Given the description of an element on the screen output the (x, y) to click on. 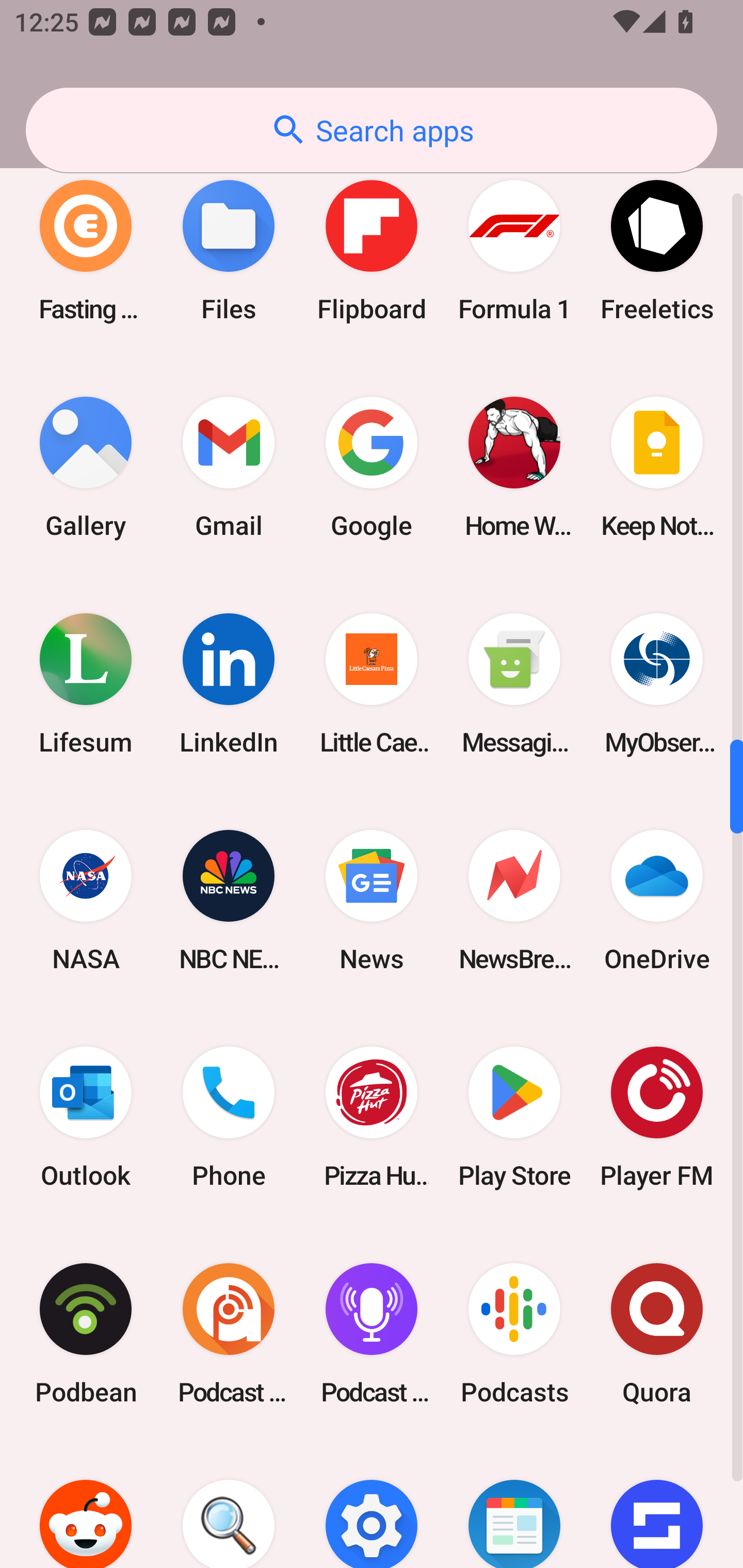
  Search apps (371, 130)
Fasting Coach (85, 250)
Files (228, 250)
Flipboard (371, 250)
Formula 1 (514, 250)
Freeletics (656, 250)
Gallery (85, 467)
Gmail (228, 467)
Google (371, 467)
Home Workout (514, 467)
Keep Notes (656, 467)
Lifesum (85, 683)
LinkedIn (228, 683)
Little Caesars Pizza (371, 683)
Messaging (514, 683)
MyObservatory (656, 683)
NASA (85, 899)
NBC NEWS (228, 899)
News (371, 899)
NewsBreak (514, 899)
OneDrive (656, 899)
Outlook (85, 1117)
Phone (228, 1117)
Pizza Hut HK & Macau (371, 1117)
Play Store (514, 1117)
Player FM (656, 1117)
Podbean (85, 1334)
Podcast Addict (228, 1334)
Podcast Player (371, 1334)
Podcasts (514, 1334)
Quora (656, 1334)
Reddit (85, 1505)
Search (228, 1505)
Settings (371, 1505)
SmartNews (514, 1505)
Sofascore (656, 1505)
